Given the description of an element on the screen output the (x, y) to click on. 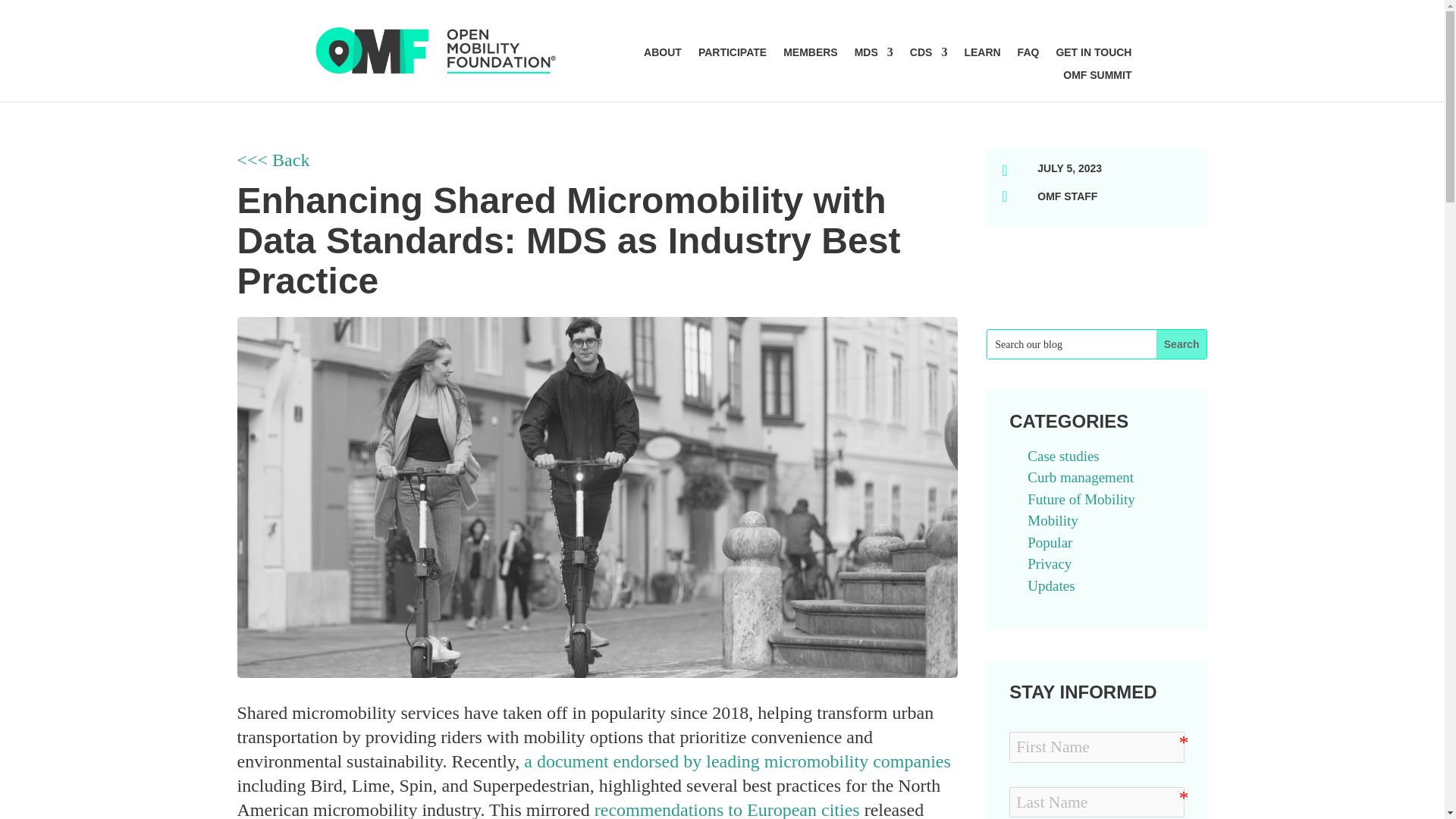
MDS (873, 54)
recommendations to European cities (727, 809)
PARTICIPATE (732, 54)
GET IN TOUCH (1093, 54)
a document endorsed by leading micromobility companies (737, 761)
OMF SUMMIT (1096, 77)
OMF Logo (433, 50)
OMF STAFF (1066, 196)
ABOUT (662, 54)
LEARN (981, 54)
